Given the description of an element on the screen output the (x, y) to click on. 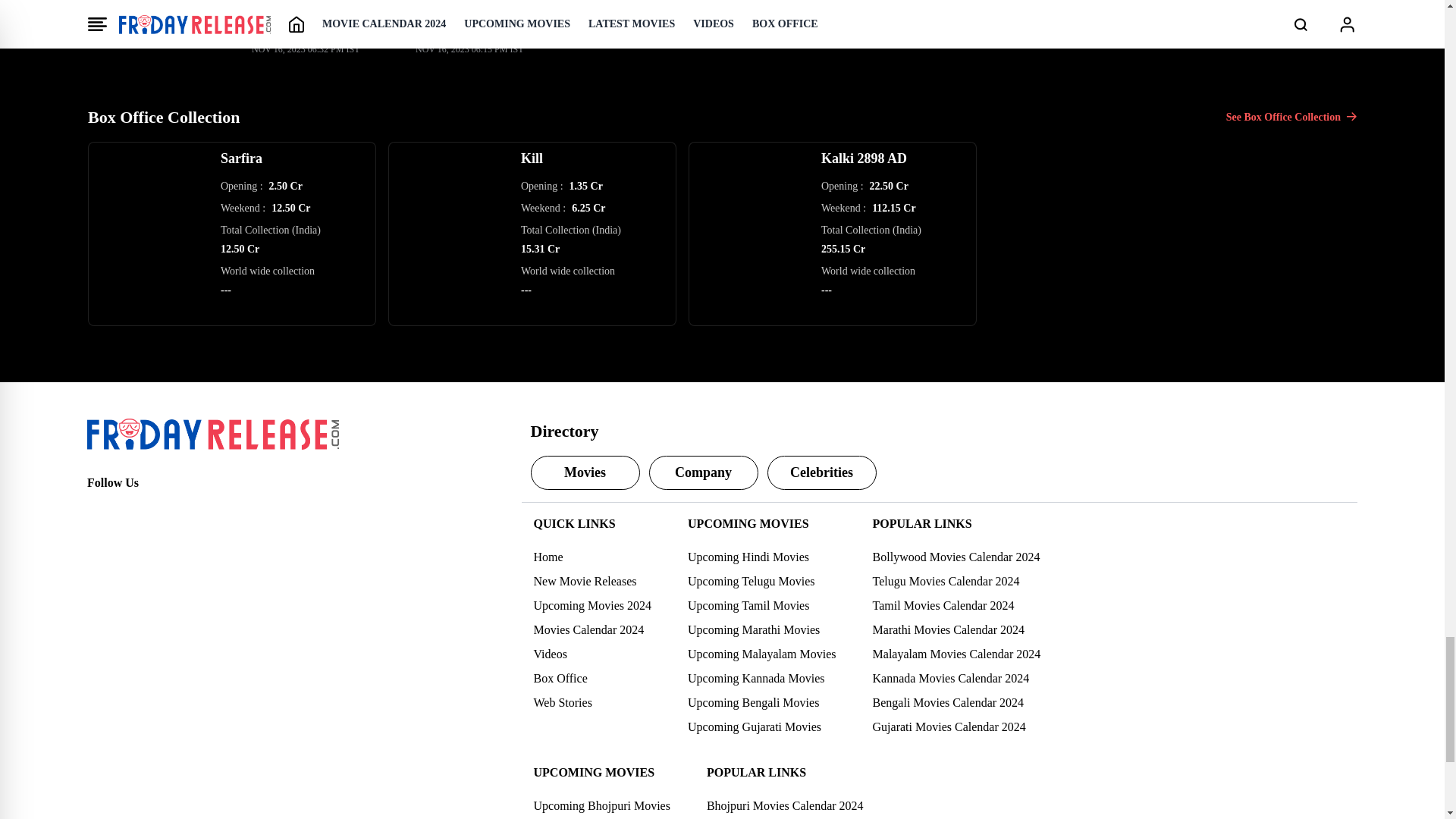
Instagram Page (165, 509)
Twitter Page (132, 509)
Facebook Page (99, 509)
Youtube Page (199, 509)
